Given the description of an element on the screen output the (x, y) to click on. 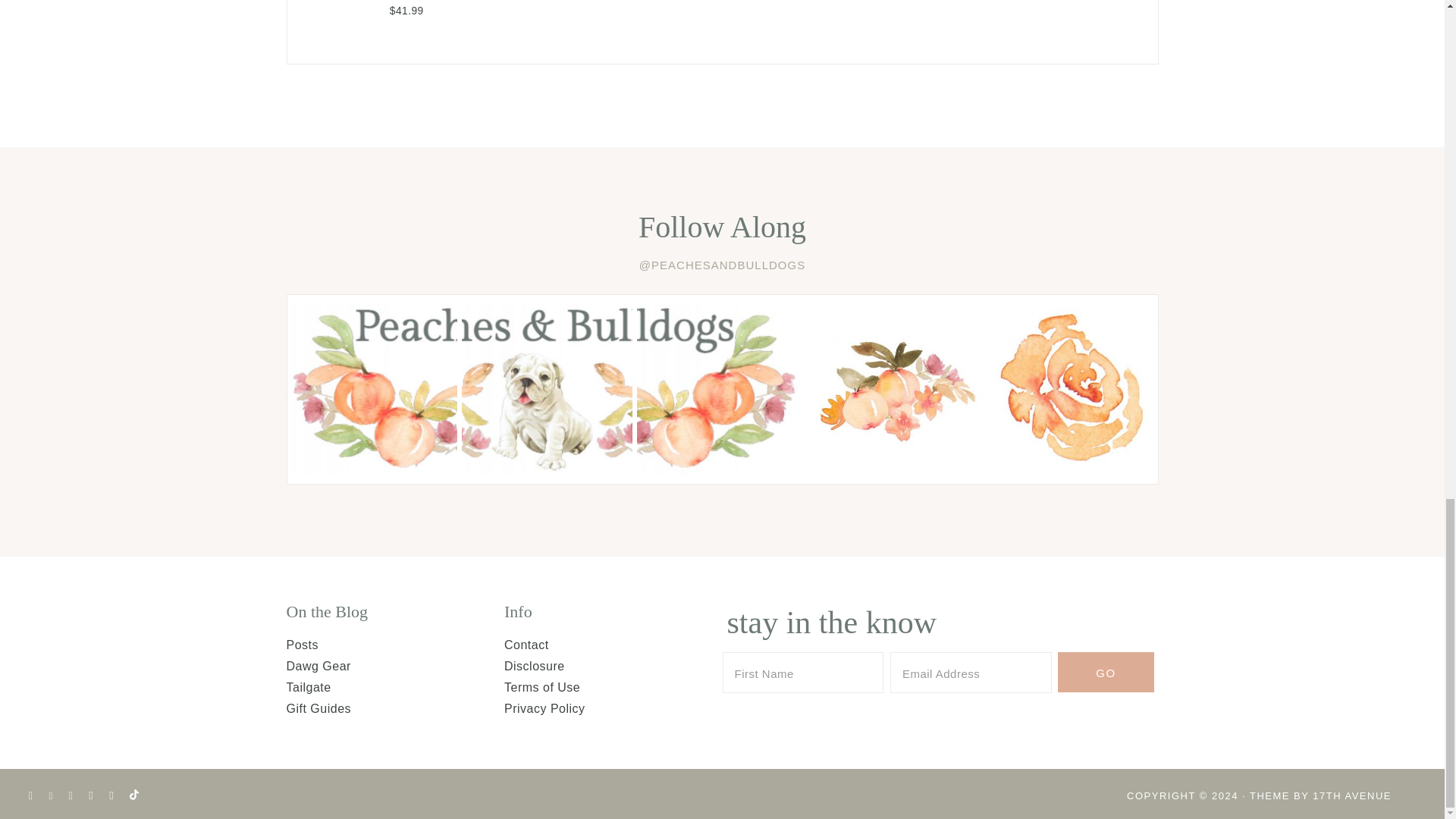
Go (1106, 671)
